Given the description of an element on the screen output the (x, y) to click on. 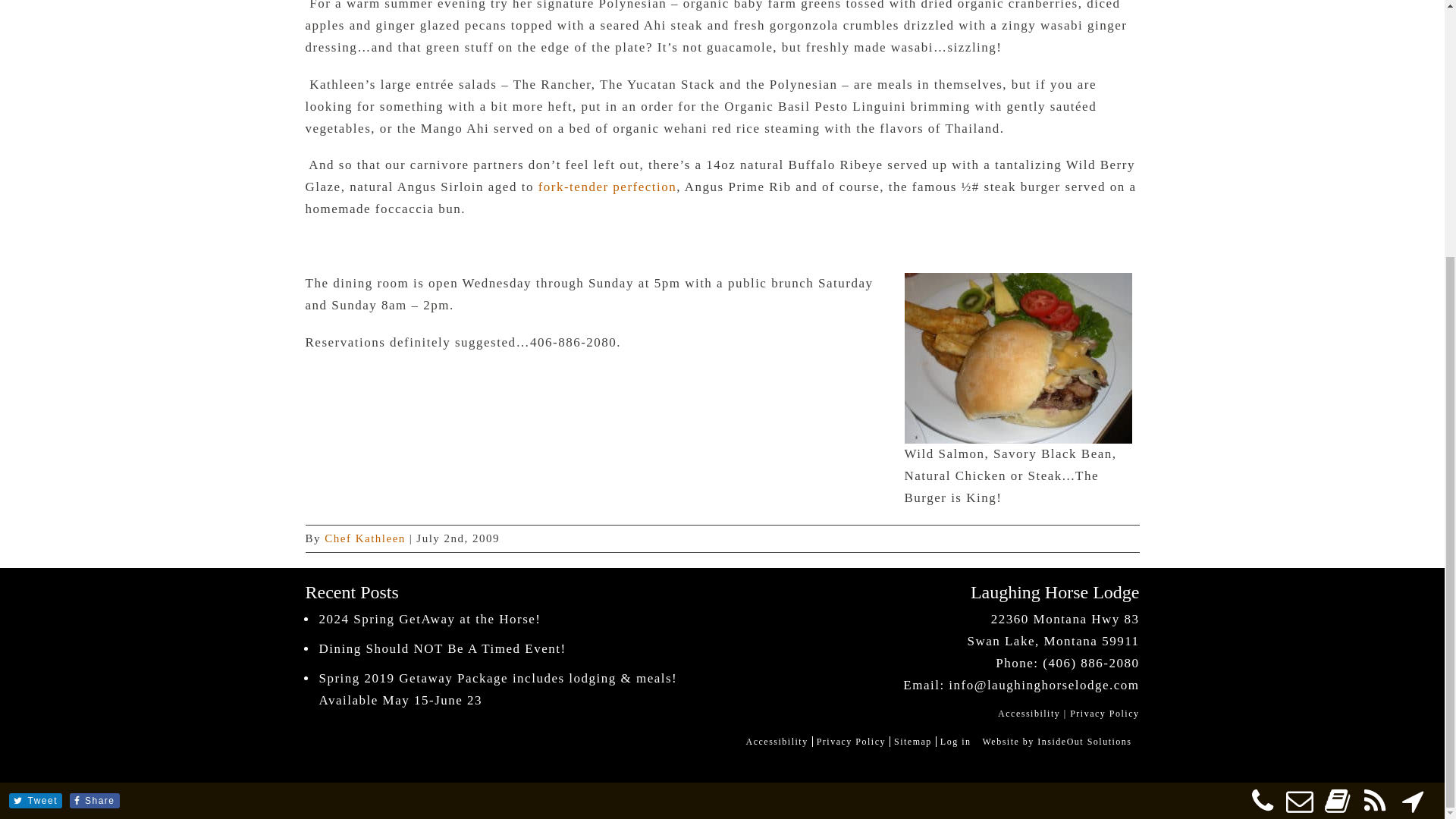
2024 Spring GetAway at the Horse! (517, 619)
Dining Should NOT Be A Timed Event! (517, 649)
The Best Burger in the Universe (1017, 357)
Posts by Chef Kathleen (365, 538)
Chef Kathleen (365, 538)
fork-tender perfection (607, 186)
